Given the description of an element on the screen output the (x, y) to click on. 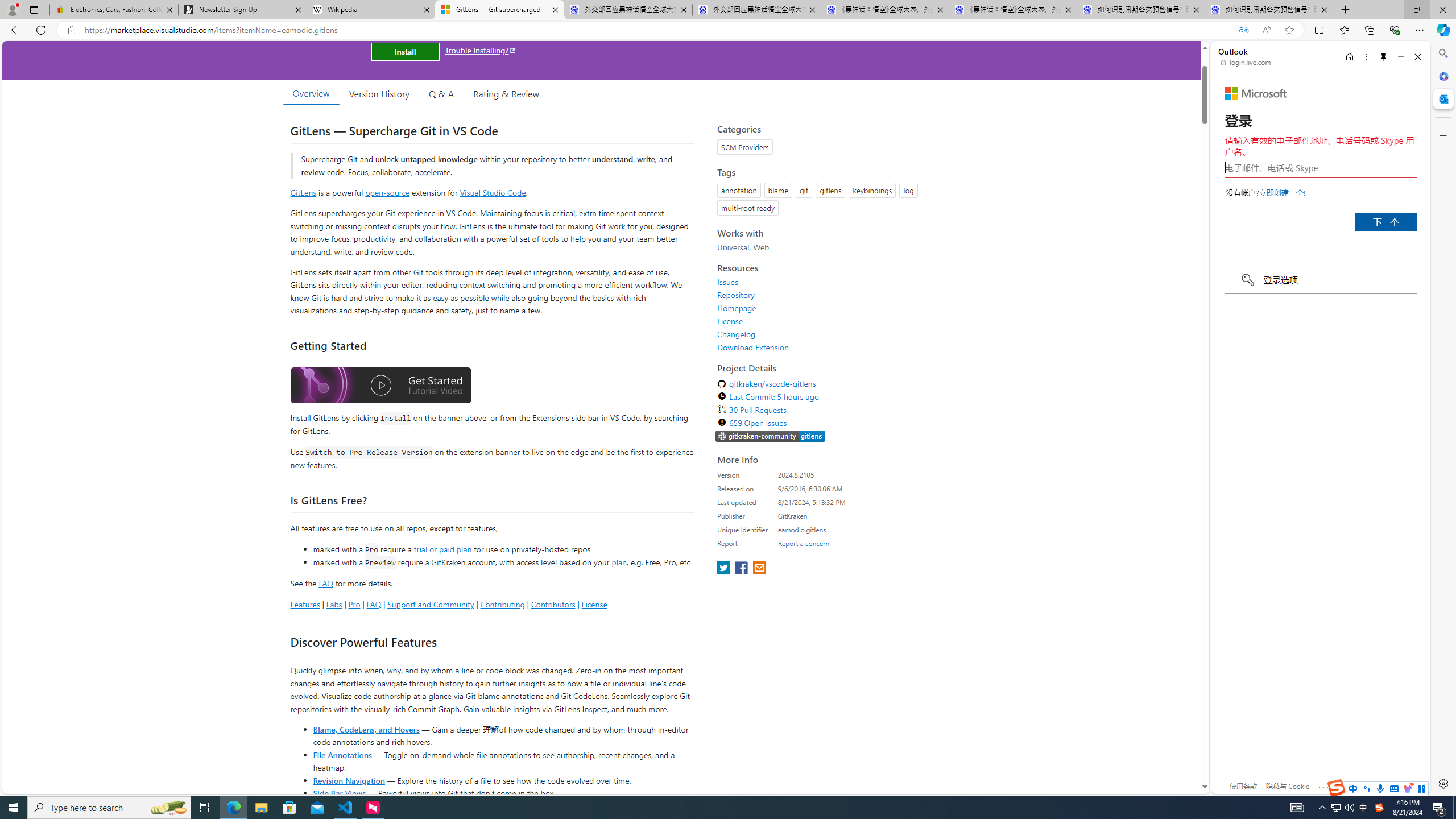
share extension on facebook (742, 568)
share extension on twitter (724, 568)
plan (618, 562)
Labs (334, 603)
Homepage (820, 307)
Changelog (820, 333)
https://slack.gitkraken.com// (769, 436)
Report a concern (803, 542)
Contributors (552, 603)
Issues (727, 281)
